Given the description of an element on the screen output the (x, y) to click on. 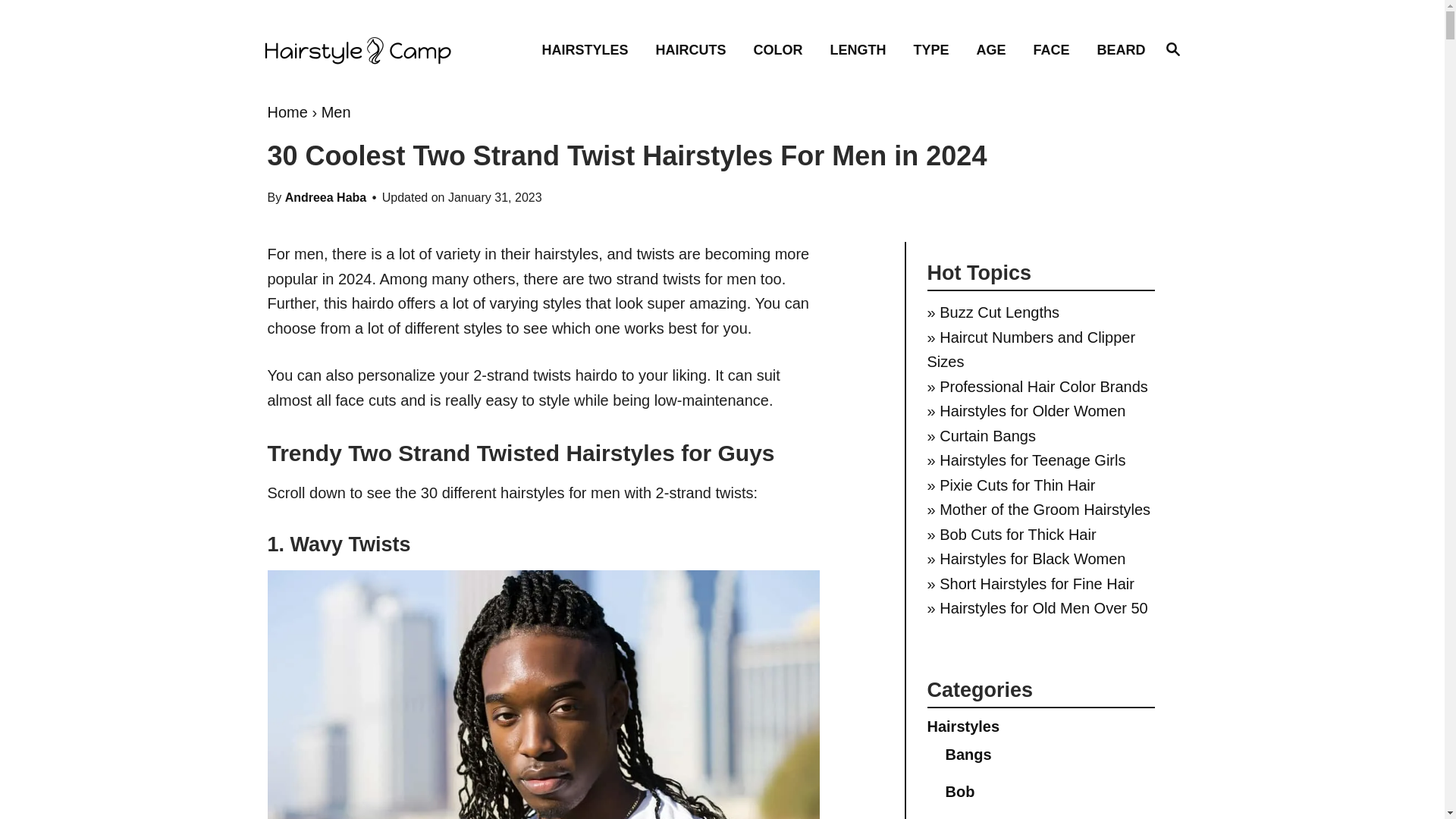
COLOR (782, 49)
Hairstyle Camp (371, 50)
Magnifying Glass (1171, 48)
HAIRCUTS (1171, 49)
HAIRSTYLES (695, 49)
